Given the description of an element on the screen output the (x, y) to click on. 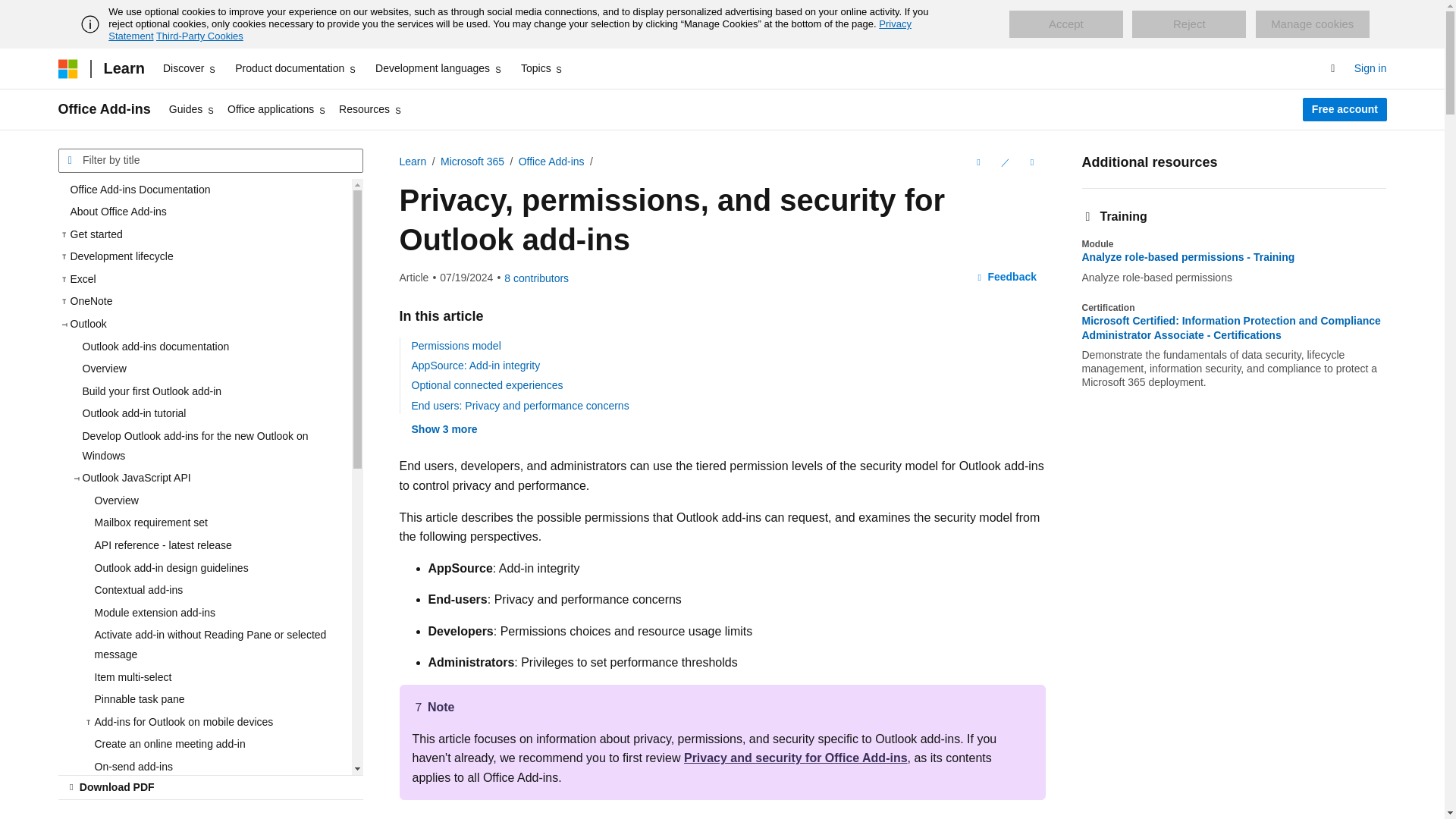
View all contributors (536, 277)
Edit This Document (1004, 161)
Product documentation (295, 68)
Privacy Statement (509, 29)
Office applications (277, 109)
Skip to main content (11, 11)
Topics (542, 68)
Reject (1189, 23)
Guides (192, 109)
Office Add-ins (103, 109)
Manage cookies (1312, 23)
Discover (189, 68)
Resources (371, 109)
More actions (1031, 161)
Development languages (438, 68)
